Given the description of an element on the screen output the (x, y) to click on. 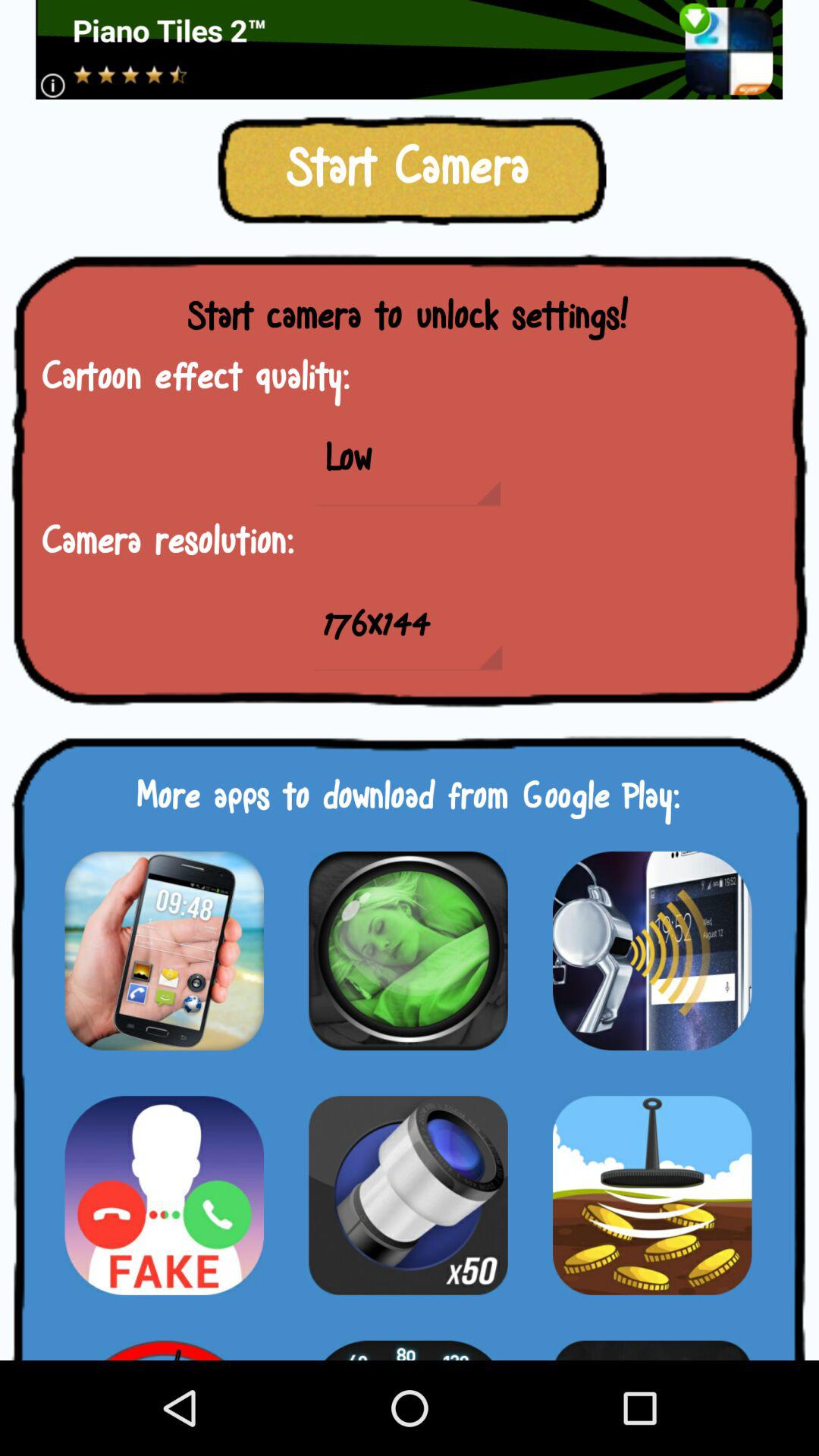
choose your choice (652, 1195)
